Given the description of an element on the screen output the (x, y) to click on. 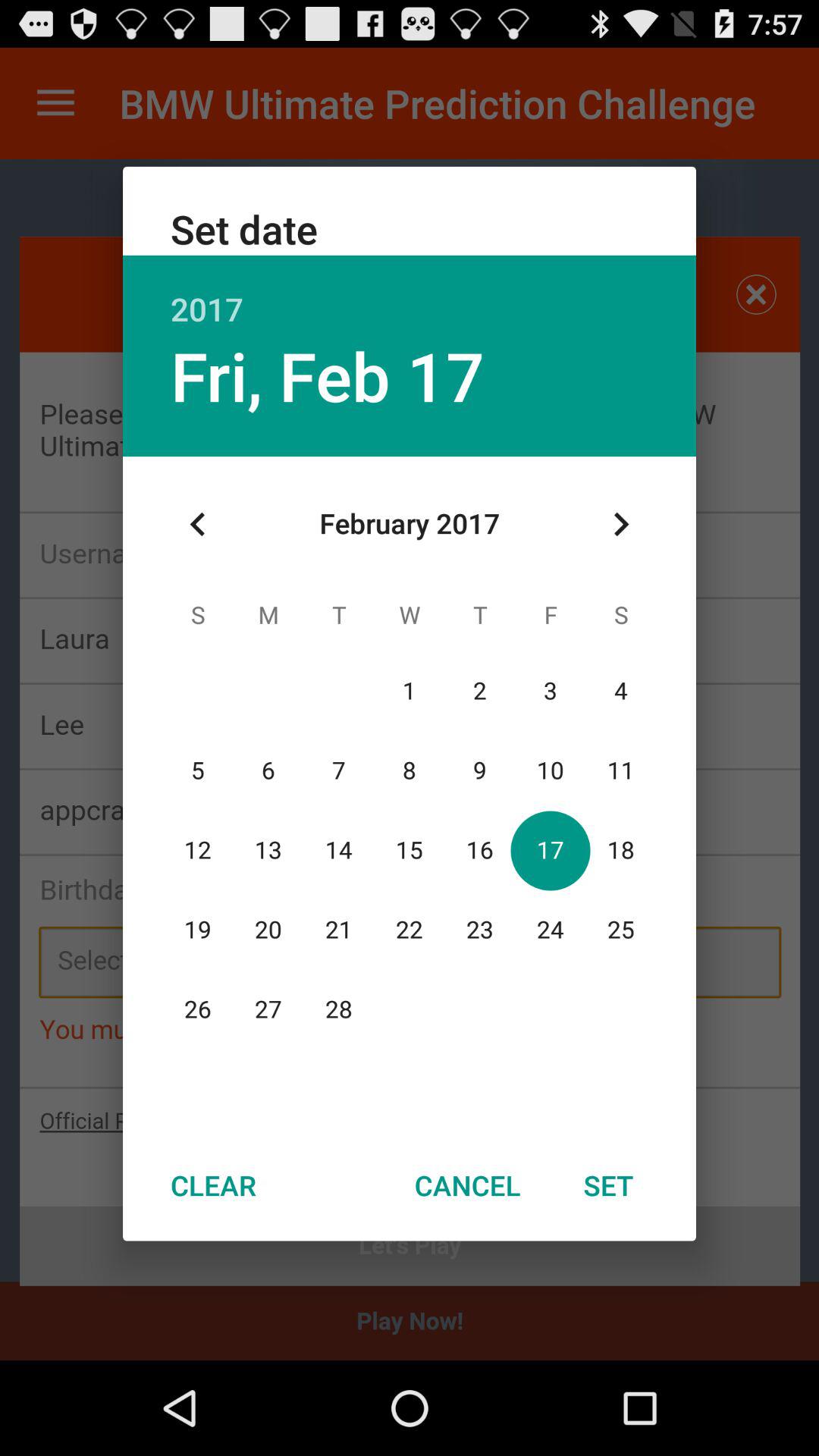
tap icon above the fri, feb 17 (409, 292)
